Given the description of an element on the screen output the (x, y) to click on. 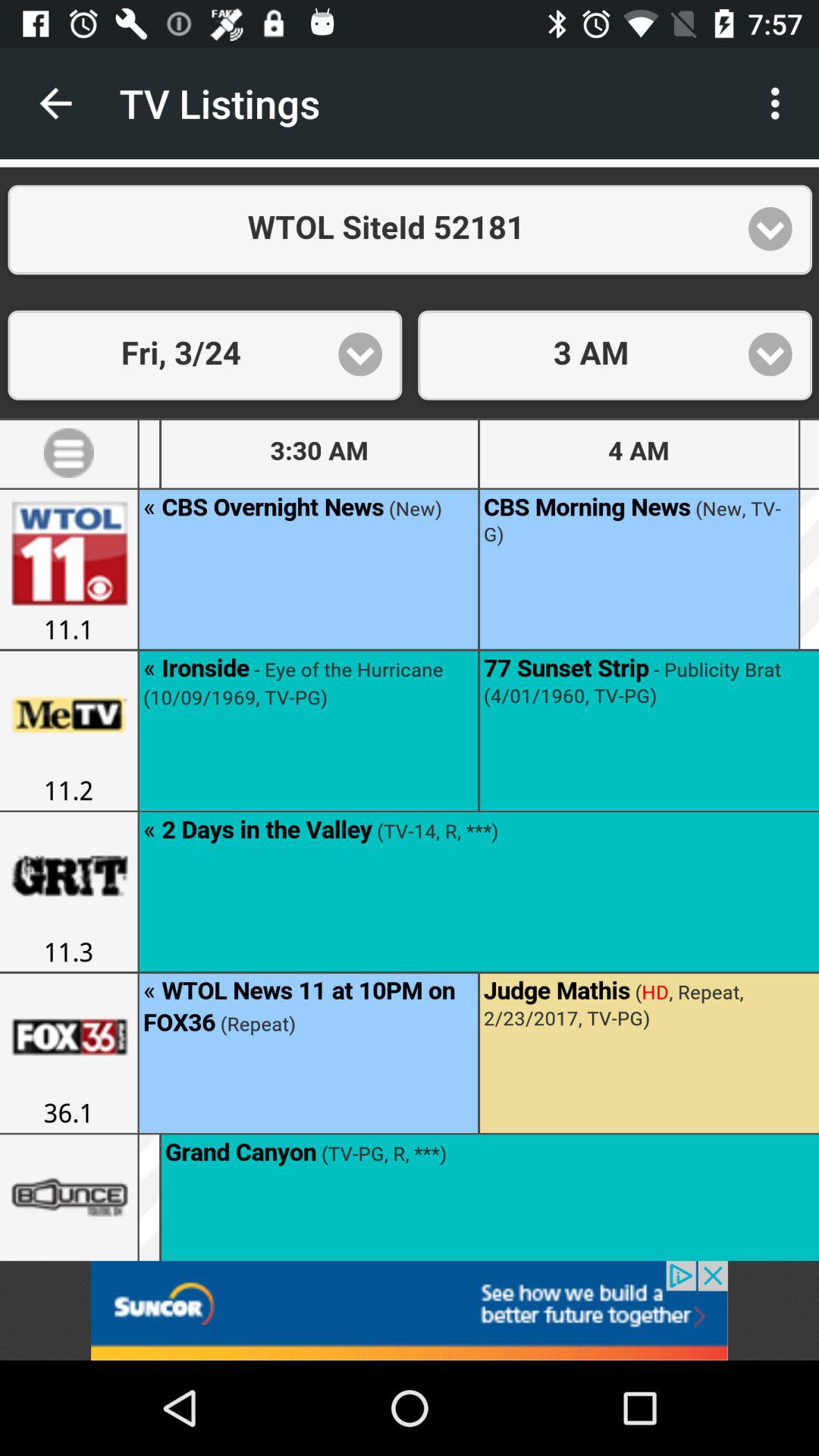
go to the suncor website (409, 1310)
